Given the description of an element on the screen output the (x, y) to click on. 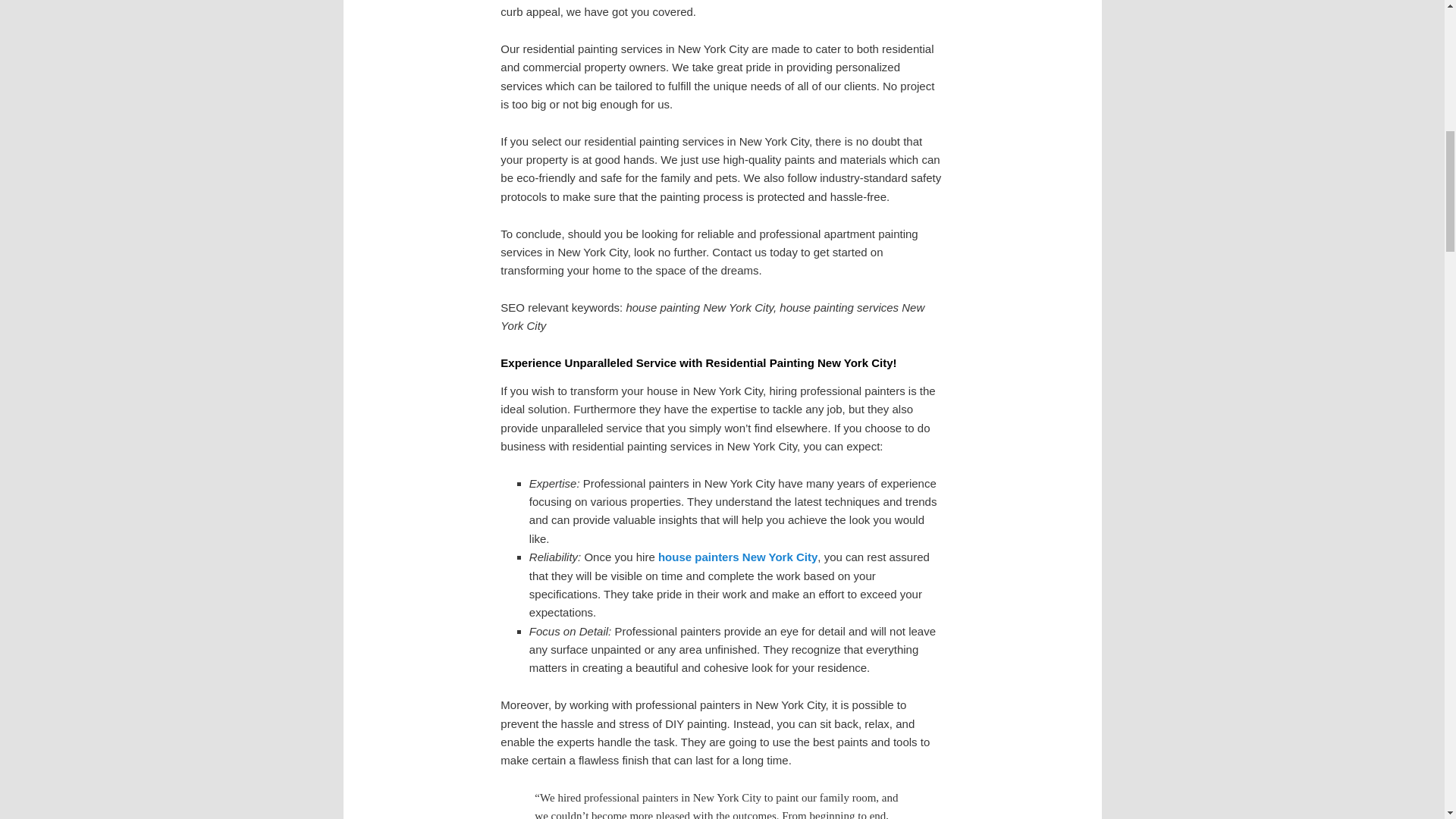
house painters New York City (737, 556)
